Given the description of an element on the screen output the (x, y) to click on. 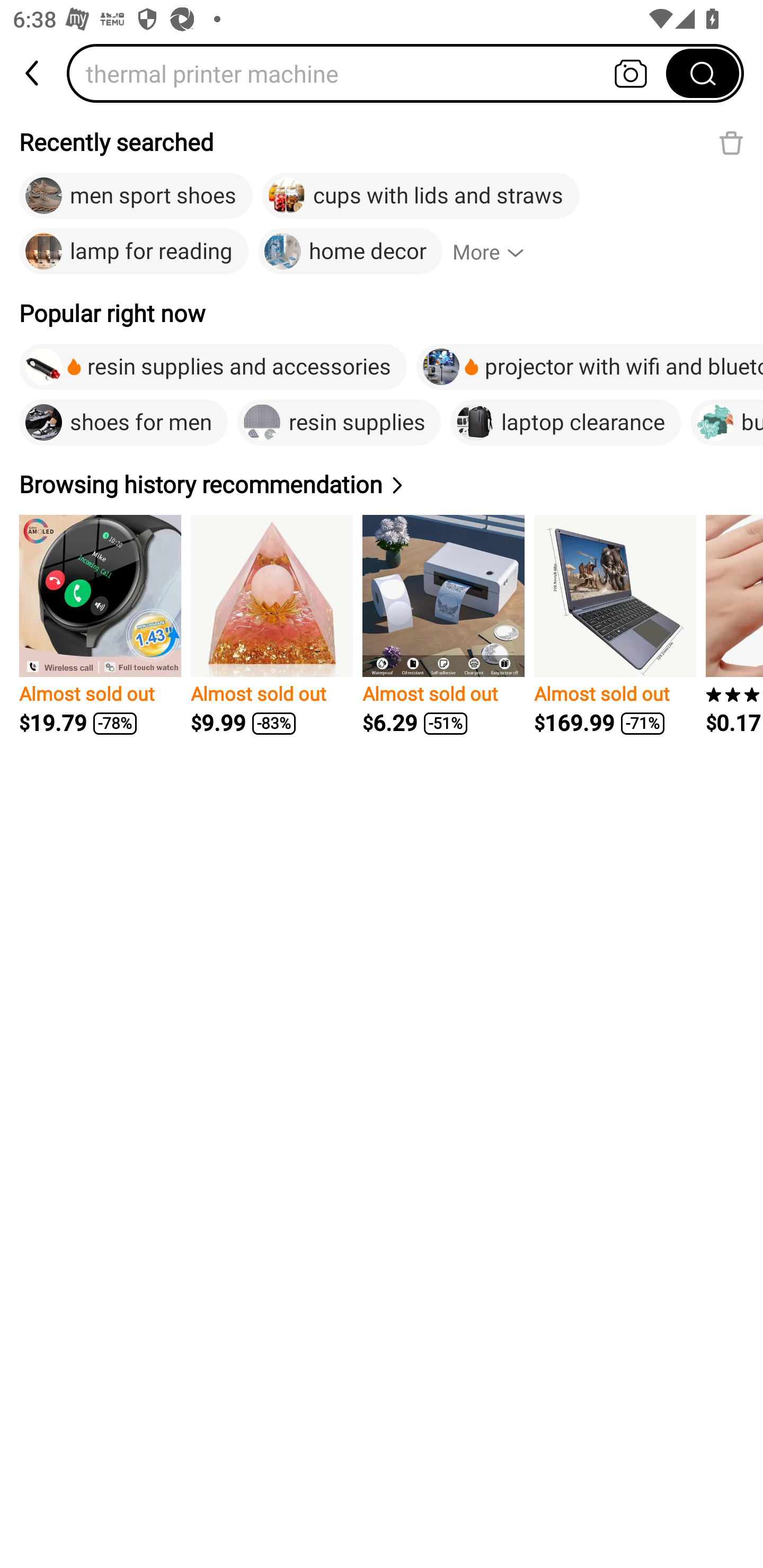
back (33, 72)
thermal printer machine (372, 73)
Search by photo (630, 73)
Delete recent search (731, 142)
men sport shoes (135, 195)
cups with lids and straws (420, 195)
lamp for reading (133, 251)
home decor (349, 251)
More (495, 251)
resin supplies and accessories (212, 366)
projector with wifi and bluetooth (589, 366)
shoes for men (123, 422)
resin supplies (339, 422)
laptop clearance (565, 422)
Browsing history recommendation (213, 484)
Almost sold out $19.79 -78% (100, 625)
Almost sold out $9.99 -83% (271, 625)
Almost sold out $6.29 -51% (443, 625)
Almost sold out $169.99 -71% (614, 625)
